Given the description of an element on the screen output the (x, y) to click on. 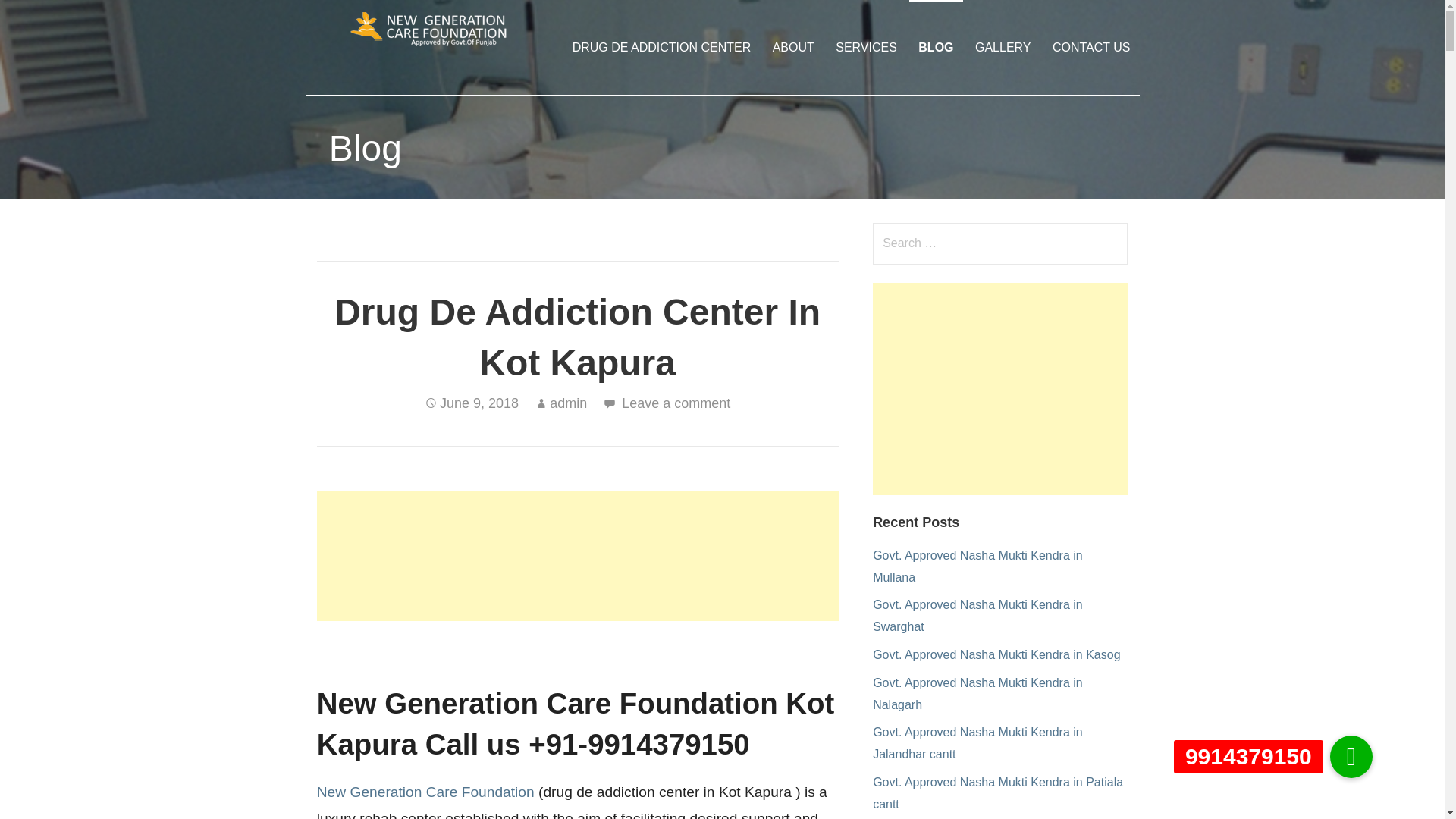
Govt. Approved Nasha Mukti Kendra in Mullana (977, 565)
CONTACT US (1091, 47)
New Generation Care Foundation (425, 791)
Search (42, 18)
Govt. Approved Nasha Mukti Kendra in Kasog (995, 654)
Advertisement (999, 388)
admin (568, 403)
Leave a comment (675, 403)
Govt. Approved Nasha Mukti Kendra in Nalagarh (977, 693)
Advertisement (577, 555)
Govt. Approved Nasha Mukti Kendra in Patiala cantt (997, 792)
Govt. Approved Nasha Mukti Kendra in Jalandhar cantt (977, 742)
Govt. Approved Nasha Mukti Kendra in Swarghat (977, 615)
DRUG DE ADDICTION CENTER (661, 47)
Posts by admin (568, 403)
